Given the description of an element on the screen output the (x, y) to click on. 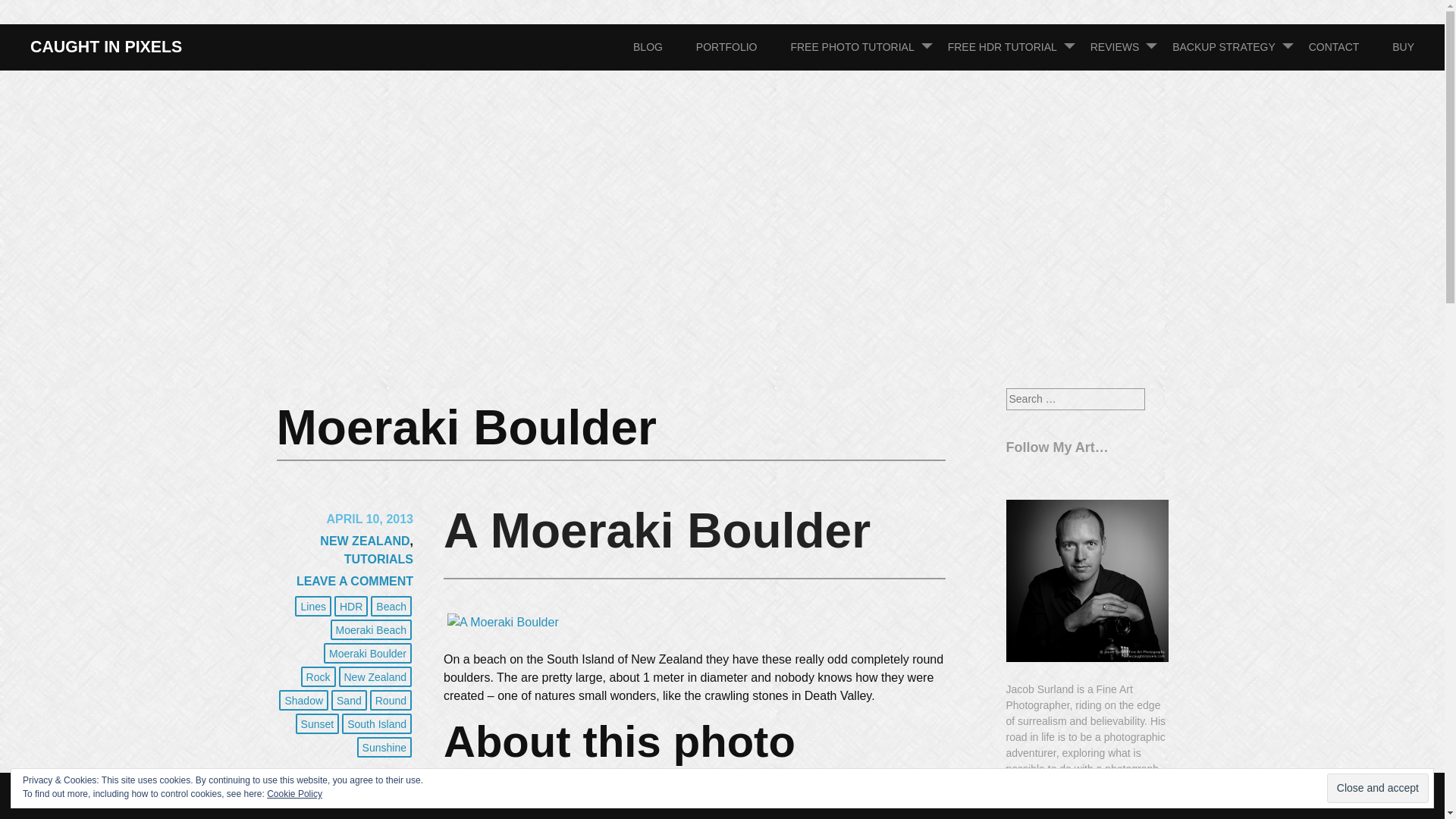
CAUGHT IN PIXELS (106, 46)
BLOG (663, 47)
A Moeraki Boulder (503, 622)
FREE PHOTO TUTORIAL (866, 47)
Close and accept (1377, 788)
A Moeraki Boulder (503, 621)
PORTFOLIO (741, 47)
FREE HDR TUTORIAL (1017, 47)
